Given the description of an element on the screen output the (x, y) to click on. 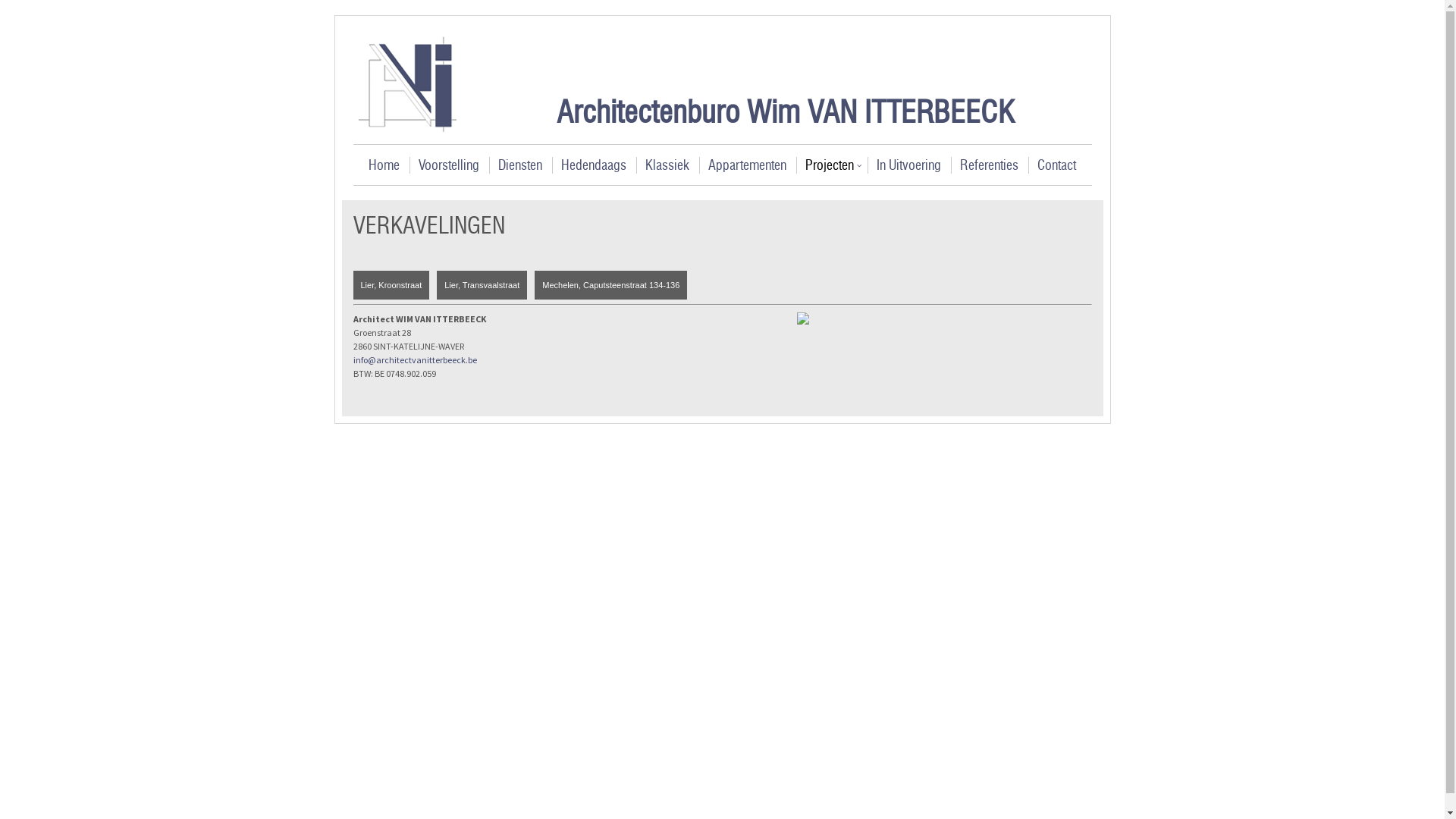
Projecten Element type: text (831, 165)
Voorstelling Element type: text (448, 165)
Lier, Transvaalstraat Element type: text (481, 288)
Mechelen, Caputsteenstraat 134-136 Element type: text (610, 288)
Appartementen Element type: text (746, 165)
Lier, Kroonstraat Element type: text (391, 288)
Klassiek Element type: text (666, 165)
In Uitvoering Element type: text (908, 165)
Referenties Element type: text (989, 165)
info@architectvanitterbeeck.be Element type: text (414, 359)
Hedendaags Element type: text (593, 165)
Diensten Element type: text (519, 165)
Contact Element type: text (1056, 165)
Home Element type: text (383, 165)
